Given the description of an element on the screen output the (x, y) to click on. 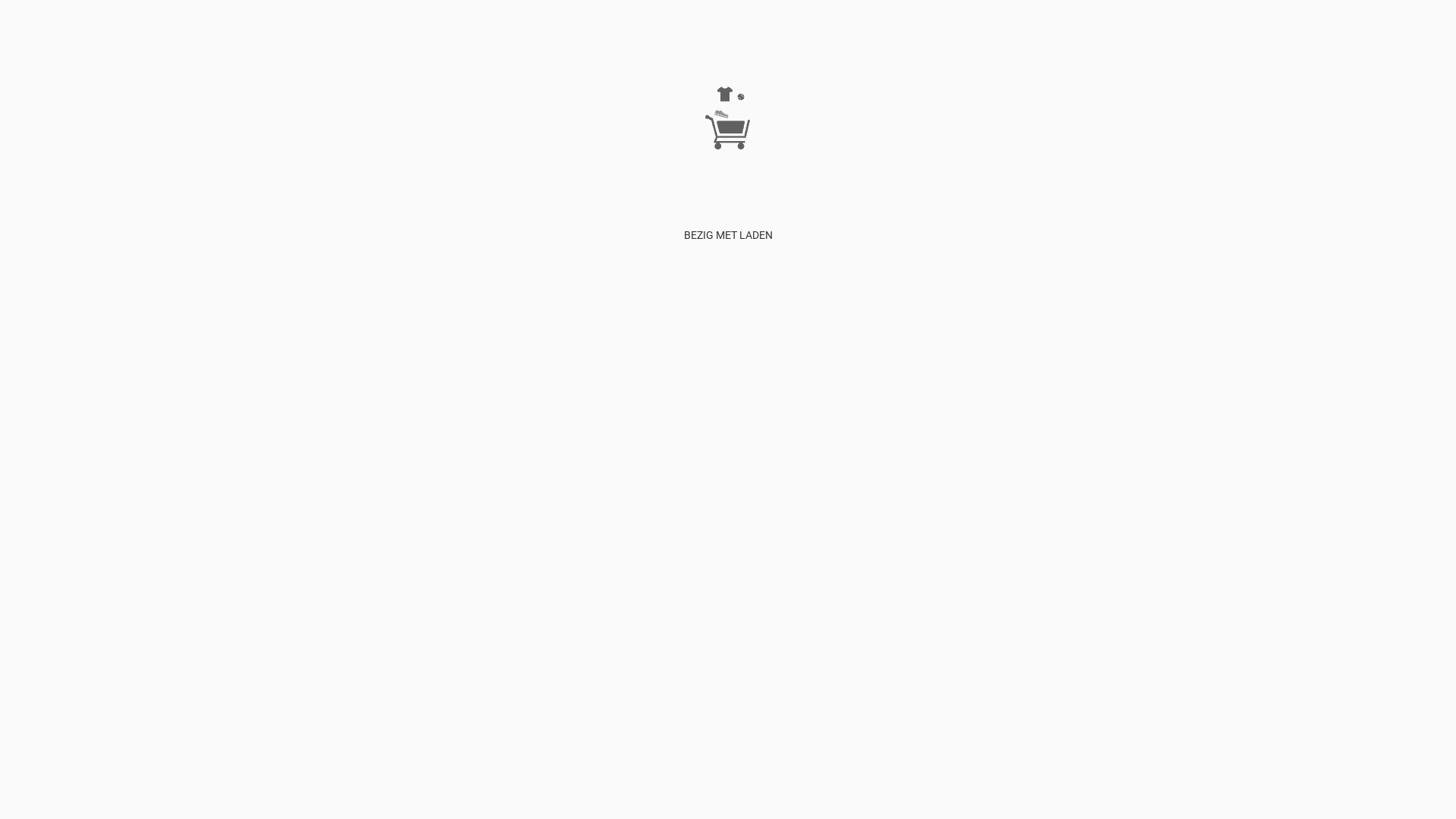
About Element type: text (893, 137)
Disclaimer Element type: text (934, 137)
My Account Element type: text (989, 137)
Cart Element type: text (1029, 137)
Explore Element type: text (859, 137)
Home Element type: text (826, 137)
Checkout Element type: text (1064, 137)
